Given the description of an element on the screen output the (x, y) to click on. 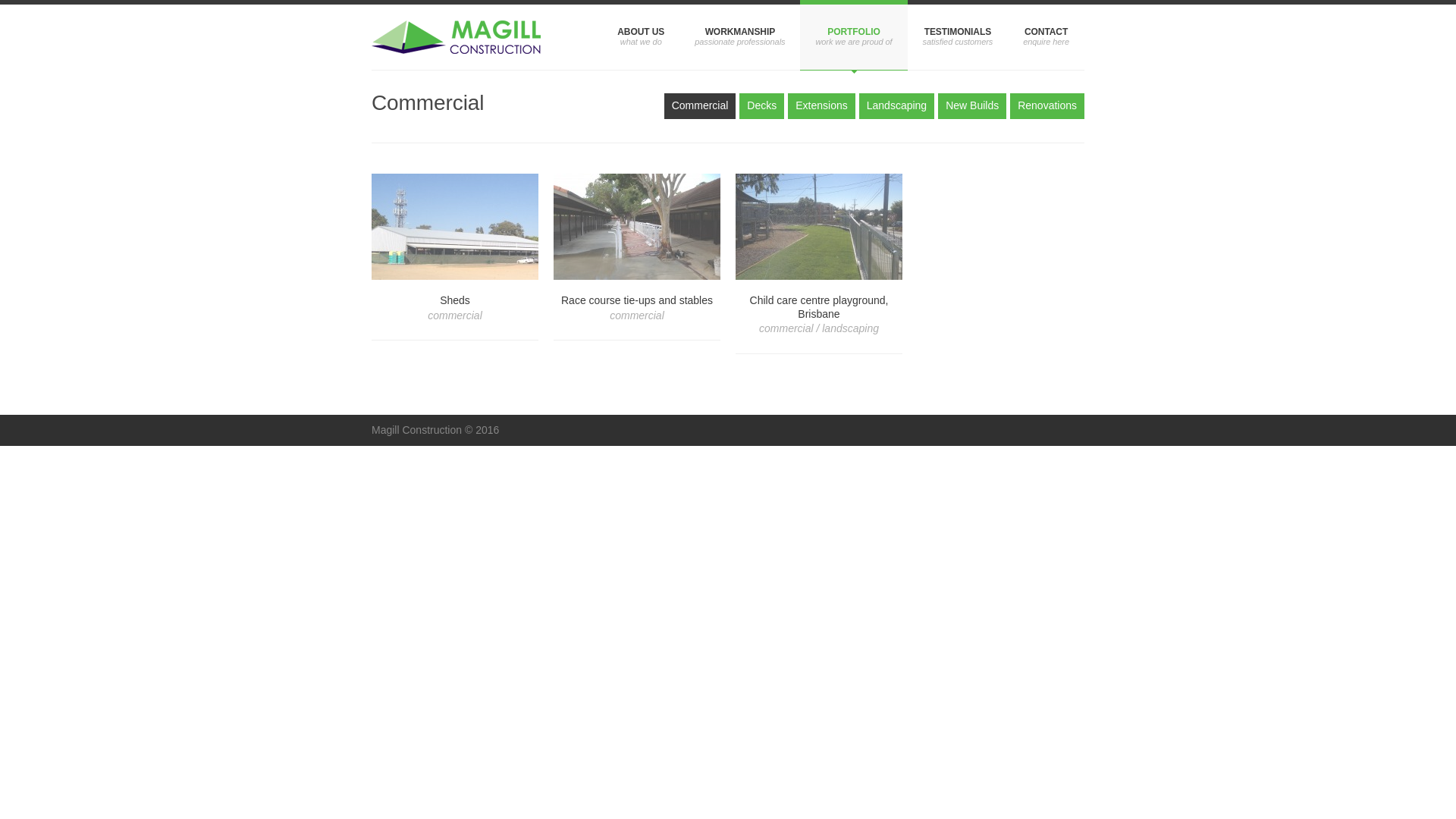
ABOUT US Element type: text (640, 35)
Renovations Element type: text (1047, 106)
PORTFOLIO Element type: text (853, 35)
WORKMANSHIP Element type: text (739, 35)
Decks Element type: text (761, 106)
Race course tie-ups and stables
commercial Element type: text (636, 309)
Magillconstruction.com.au Element type: hover (455, 36)
Extensions Element type: text (820, 106)
Sheds
commercial Element type: text (454, 309)
TESTIMONIALS Element type: text (957, 35)
Commercial Element type: text (700, 106)
CONTACT Element type: text (1045, 35)
New Builds Element type: text (972, 106)
Child care centre playground, Brisbane Element type: hover (818, 226)
Sheds Element type: hover (454, 226)
Landscaping Element type: text (896, 106)
Race course tie-ups and stables Element type: hover (636, 226)
